Given the description of an element on the screen output the (x, y) to click on. 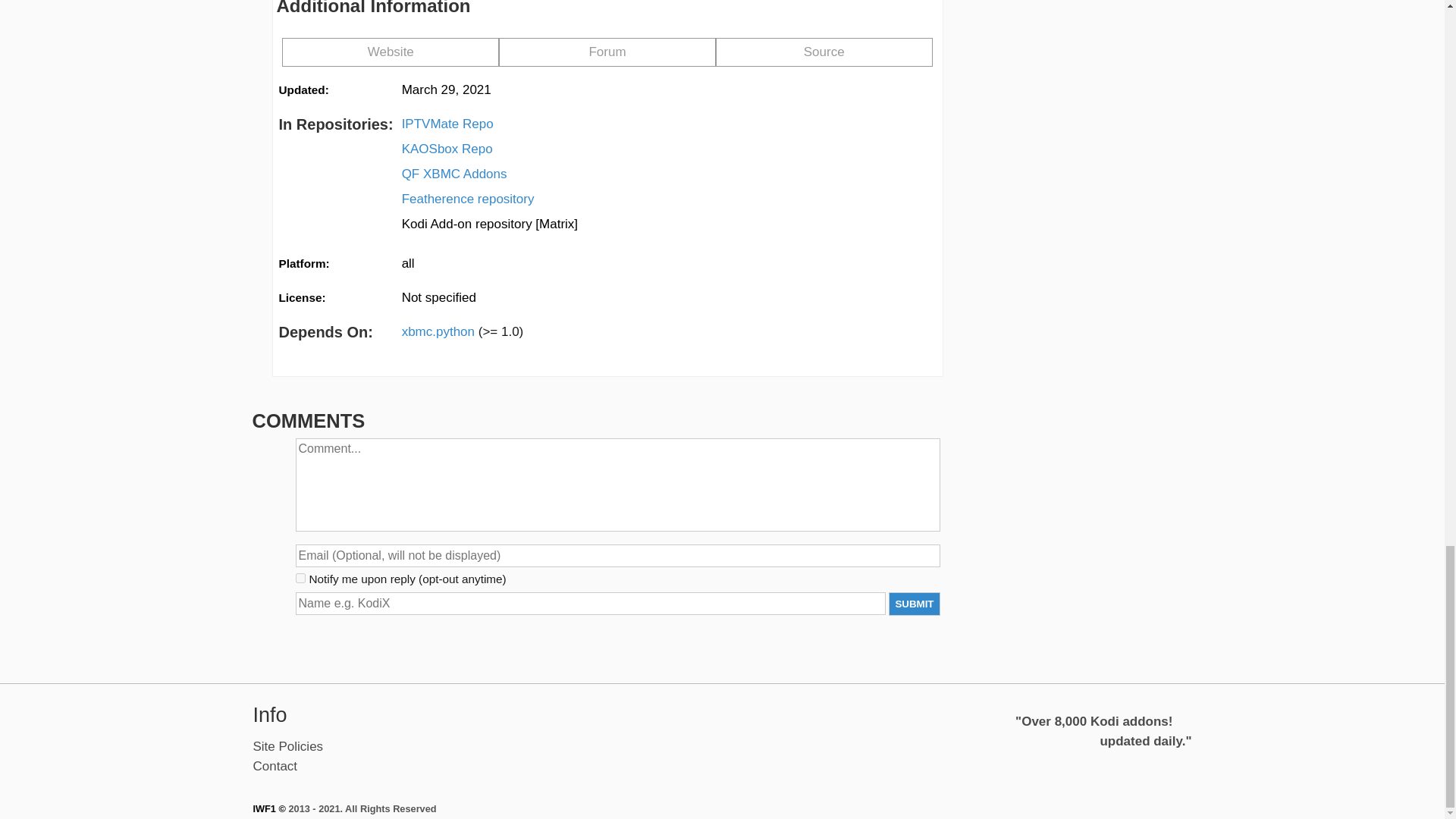
1 (300, 578)
Contact (275, 766)
KAOSbox Repo (447, 148)
Featherence repository (467, 199)
Site Policies (288, 746)
IPTVMate Repo (447, 124)
QF XBMC Addons (453, 174)
SUBMIT (913, 603)
